Given the description of an element on the screen output the (x, y) to click on. 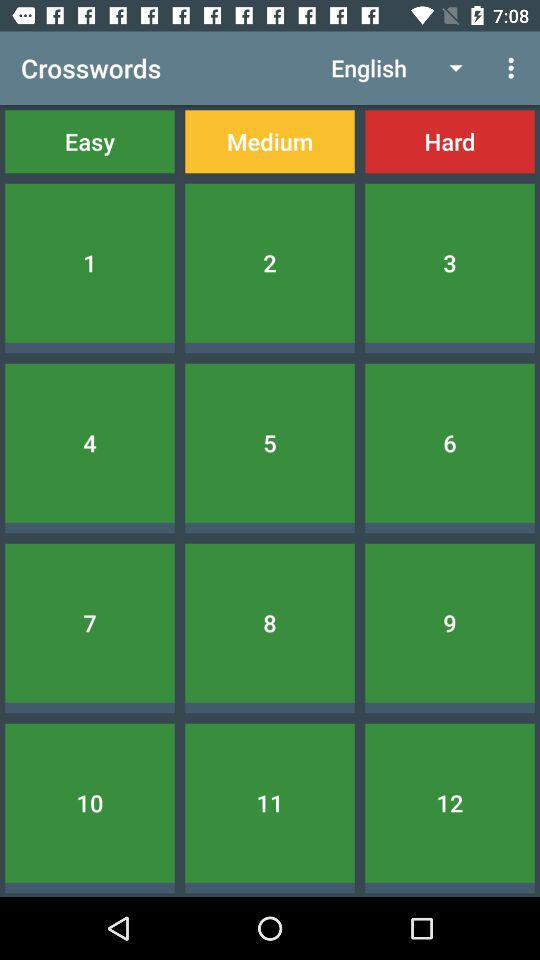
jump until 5 icon (269, 442)
